Given the description of an element on the screen output the (x, y) to click on. 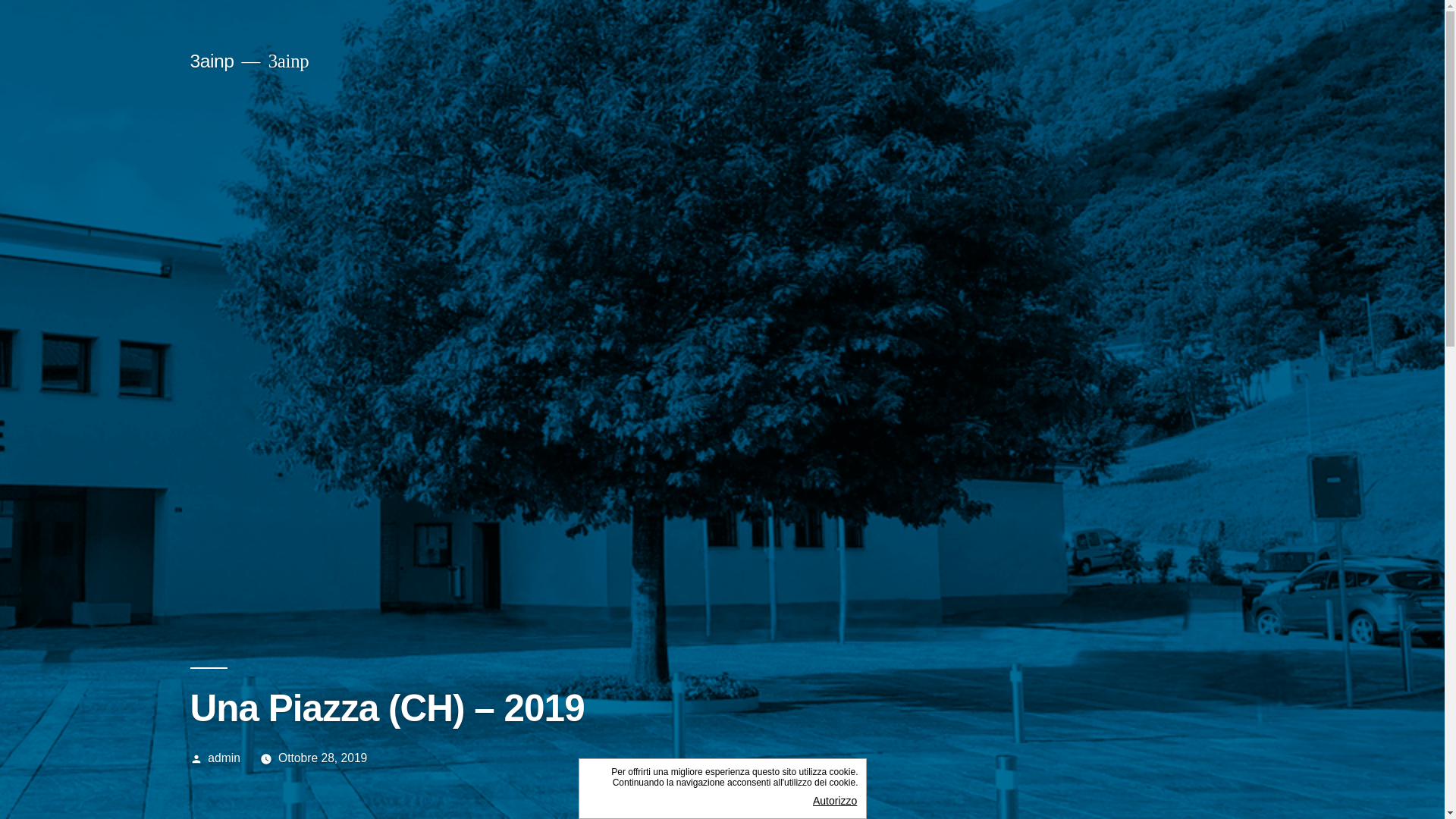
Ottobre 28, 2019 Element type: text (322, 757)
admin Element type: text (223, 757)
Autorizzo Element type: text (812, 800)
3ainp Element type: text (211, 60)
